Given the description of an element on the screen output the (x, y) to click on. 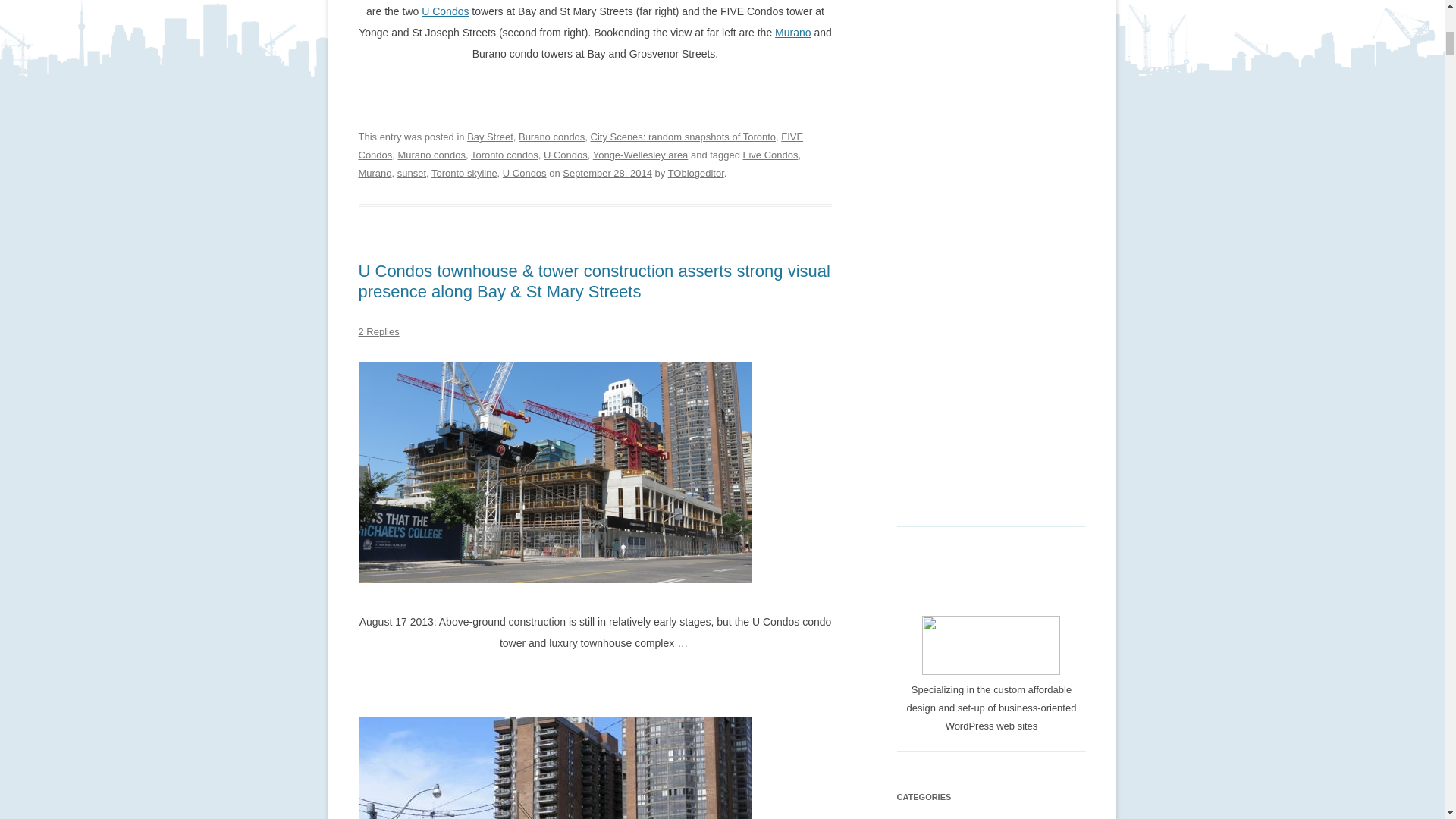
U Condos (445, 10)
Bay Street (490, 136)
Murano (374, 173)
TOblogeditor (695, 173)
Five Condos (769, 154)
Murano condos (431, 154)
September 28, 2014 (607, 173)
Toronto skyline (463, 173)
Murano (792, 32)
2 Replies (378, 331)
